Given the description of an element on the screen output the (x, y) to click on. 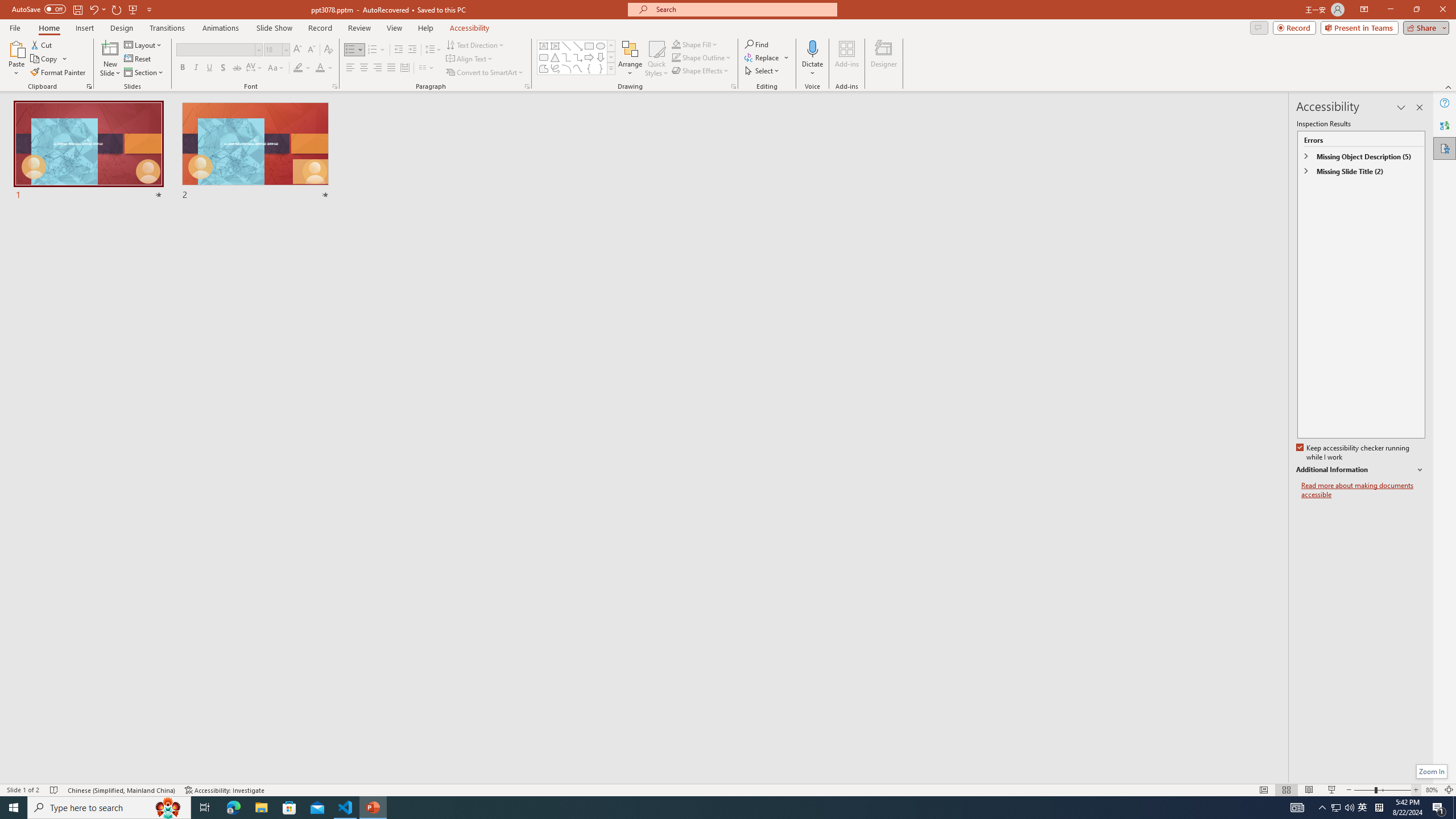
Page 1 content (719, 416)
